Given the description of an element on the screen output the (x, y) to click on. 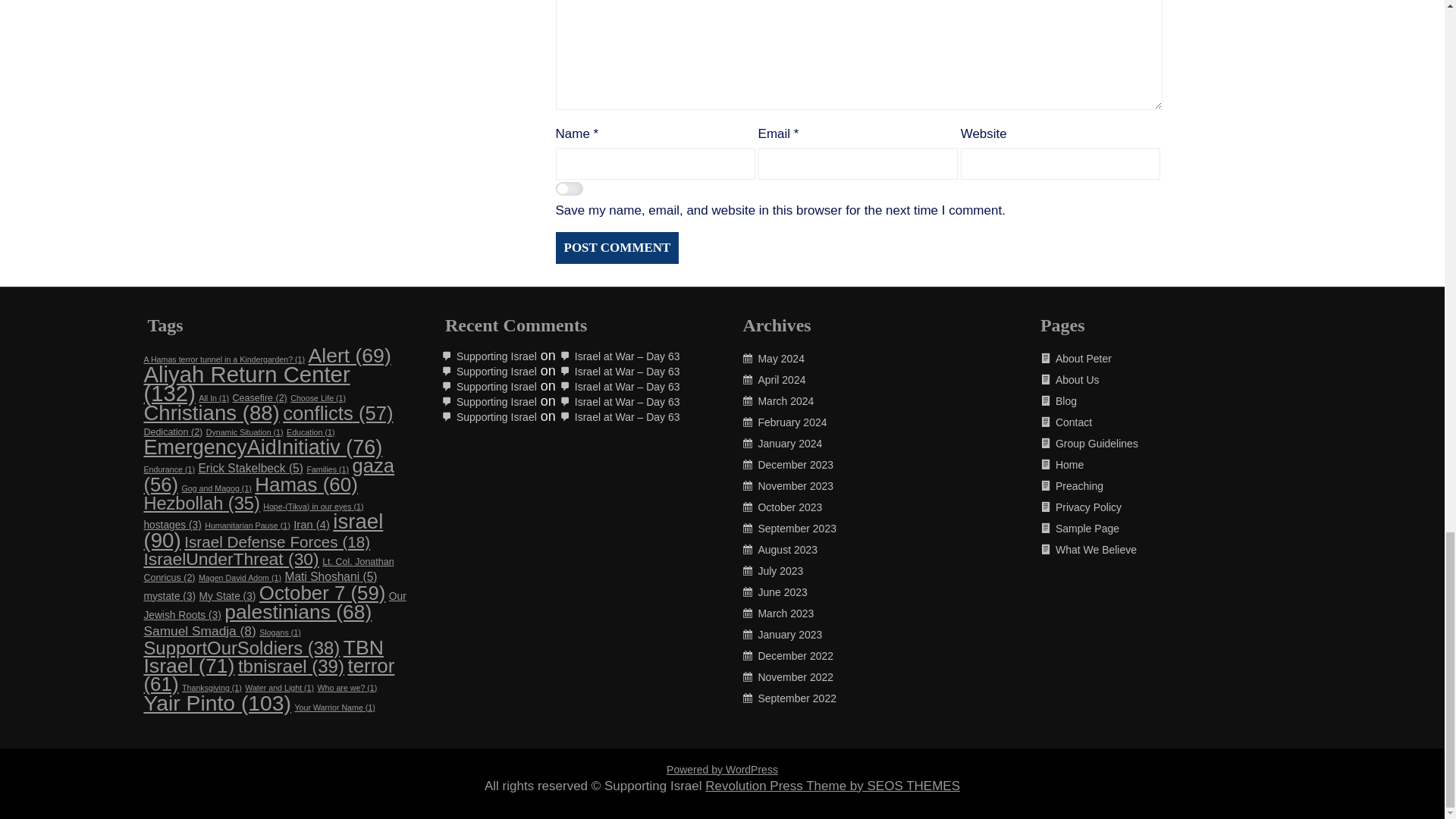
SEOS THEMES - Revolution Press (831, 785)
Post Comment (616, 247)
Post Comment (616, 247)
yes (568, 190)
